Given the description of an element on the screen output the (x, y) to click on. 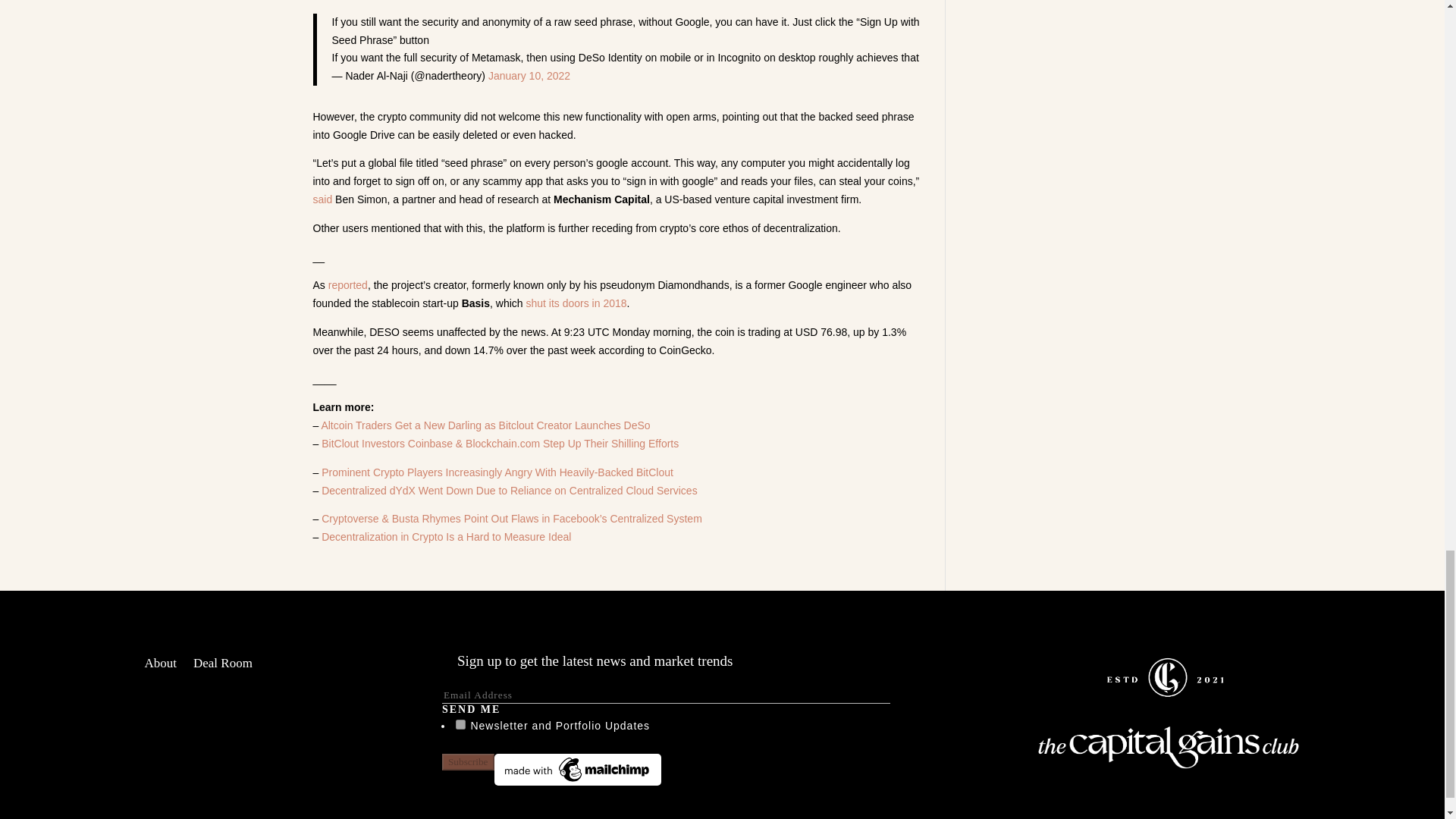
Subscribe (468, 761)
said (322, 199)
Subscribe (468, 761)
Decentralization in Crypto Is a Hard to Measure Ideal (445, 536)
About (160, 666)
1 (460, 724)
Mailchimp - email marketing made easy and fun (578, 781)
Deal Room (222, 666)
shut its doors in 2018 (575, 303)
January 10, 2022 (528, 75)
reported (348, 285)
